Given the description of an element on the screen output the (x, y) to click on. 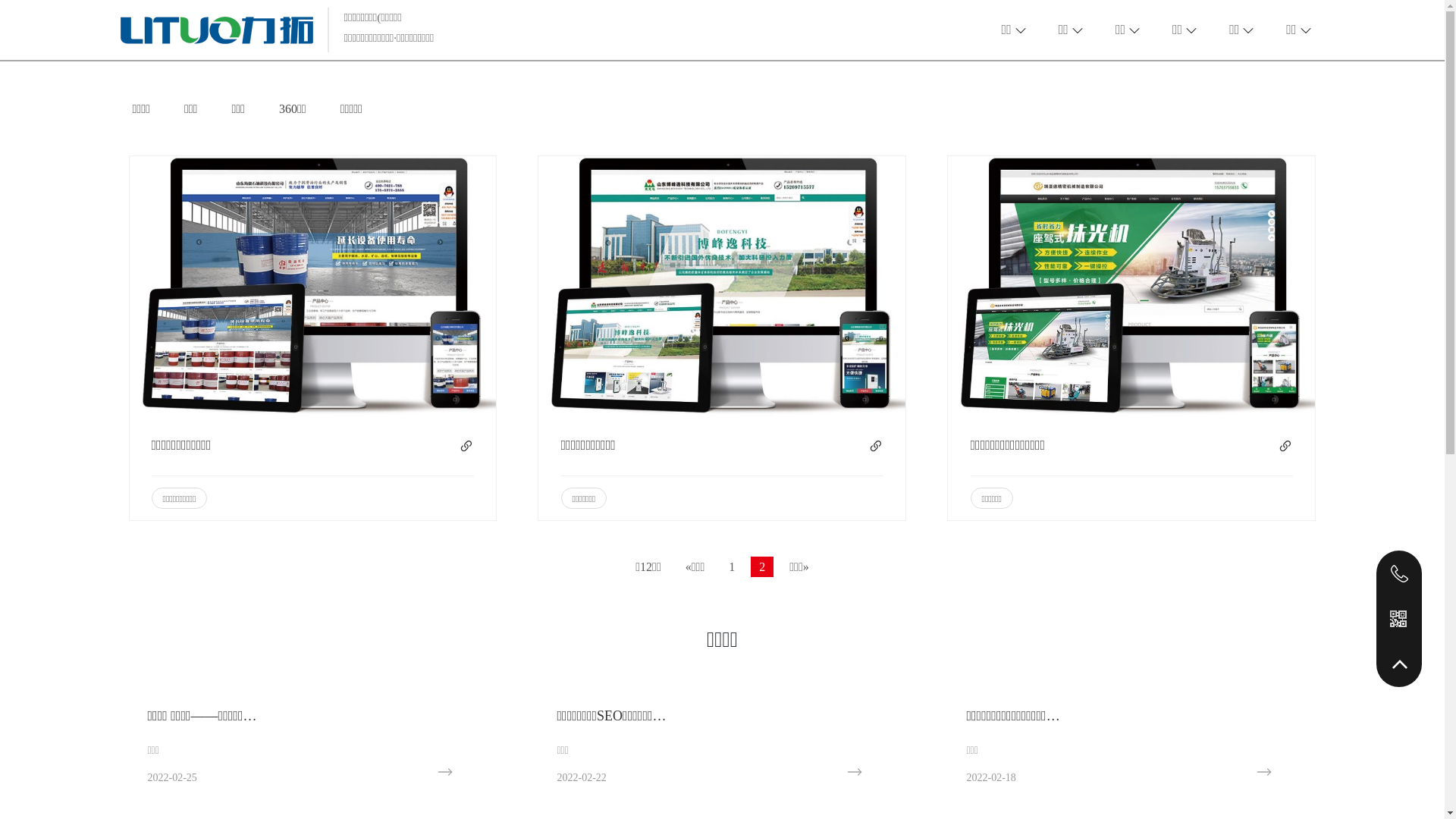
1 Element type: text (731, 566)
